Given the description of an element on the screen output the (x, y) to click on. 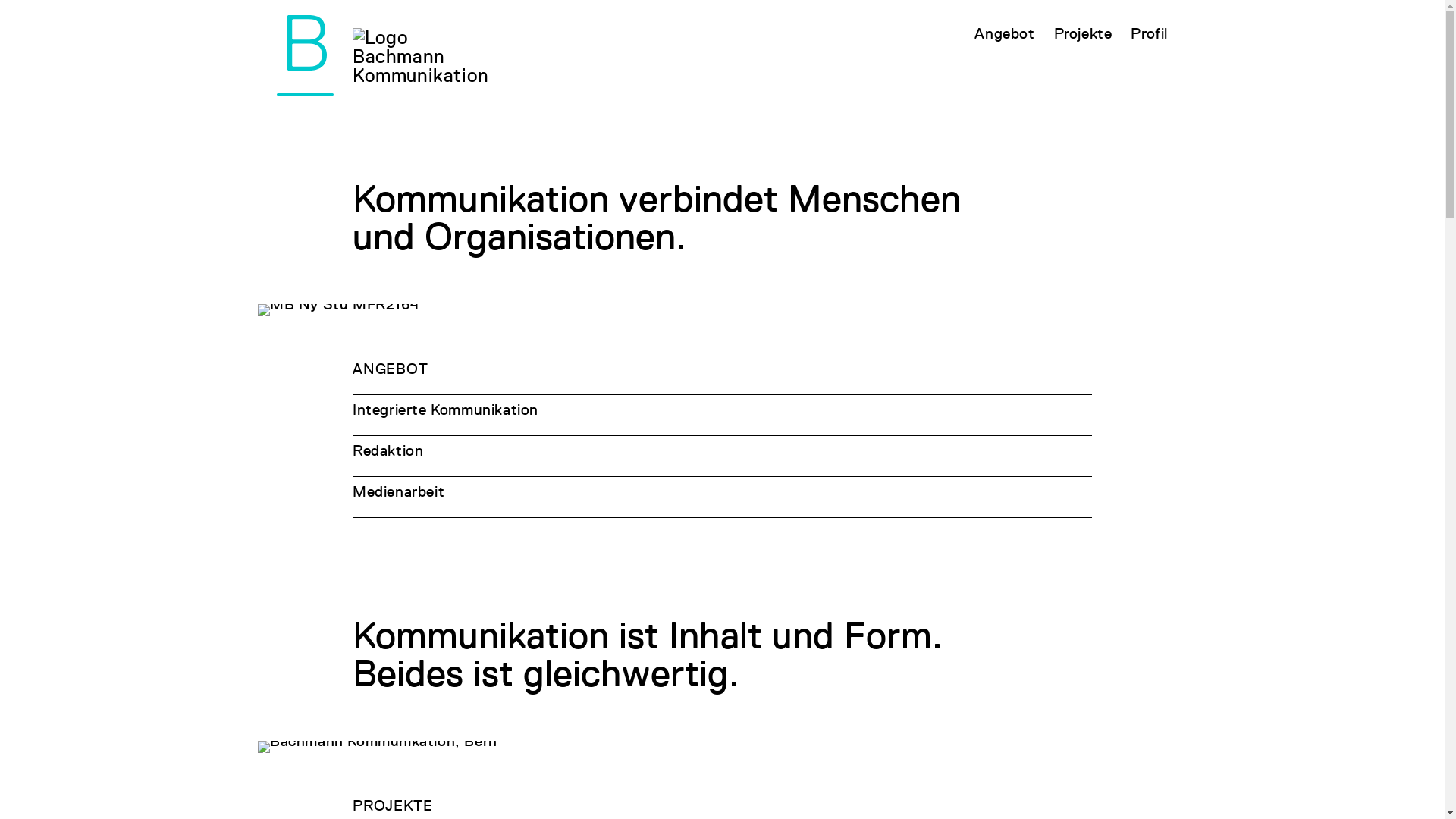
Angebot Element type: text (1004, 33)
Profil Element type: text (1148, 33)
Projekte Element type: text (1083, 33)
